Given the description of an element on the screen output the (x, y) to click on. 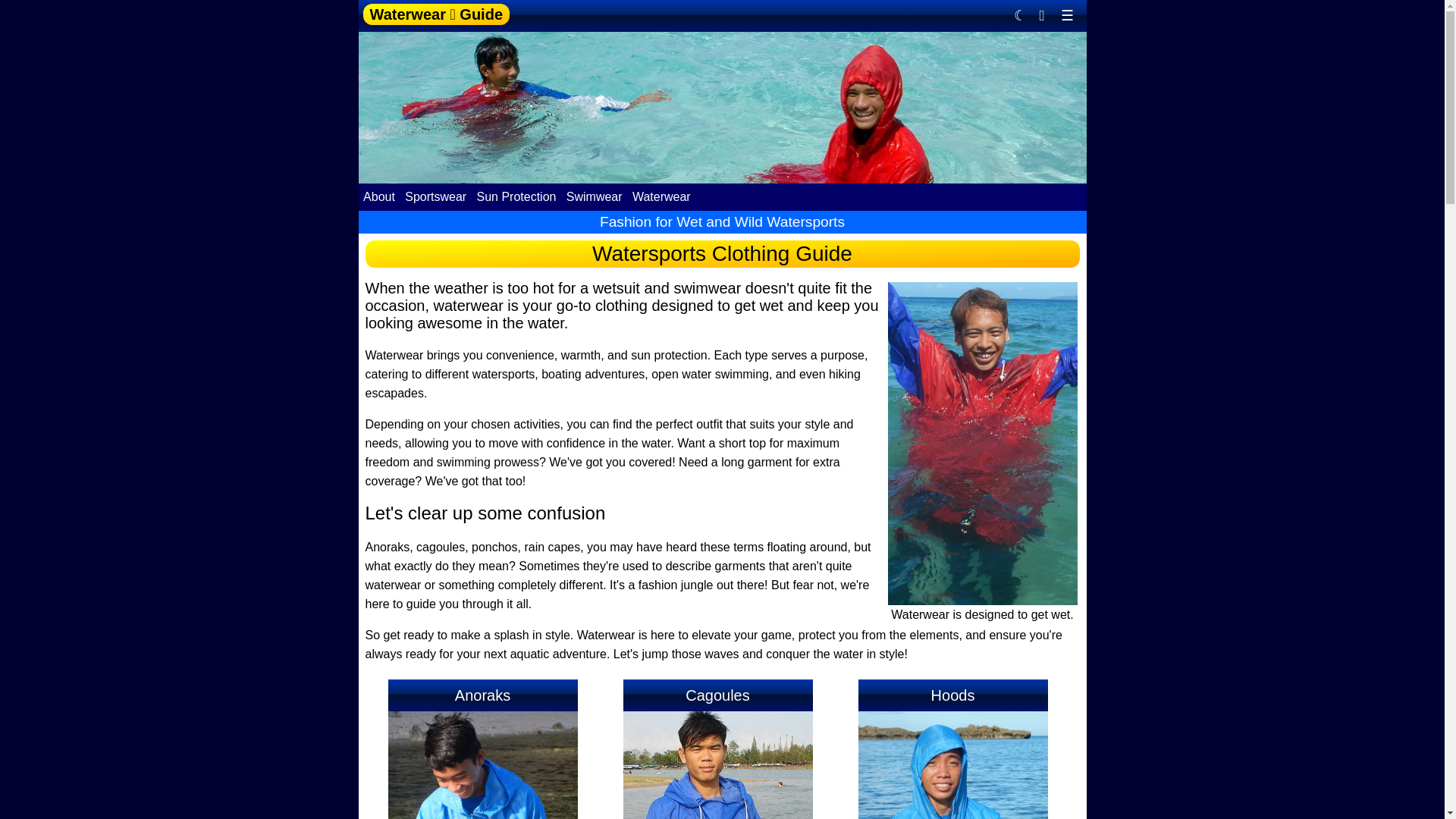
 Sportswear  (435, 196)
Find out all about being safe in the sun (516, 196)
 About  (379, 196)
 Swimwear  (594, 196)
Waterwear brings you convenience, warmth, and sun protection (661, 196)
 Sun Protection  (516, 196)
There is much more to swimwear than bikinis and shorts (594, 196)
 Waterwear  (661, 196)
